Given the description of an element on the screen output the (x, y) to click on. 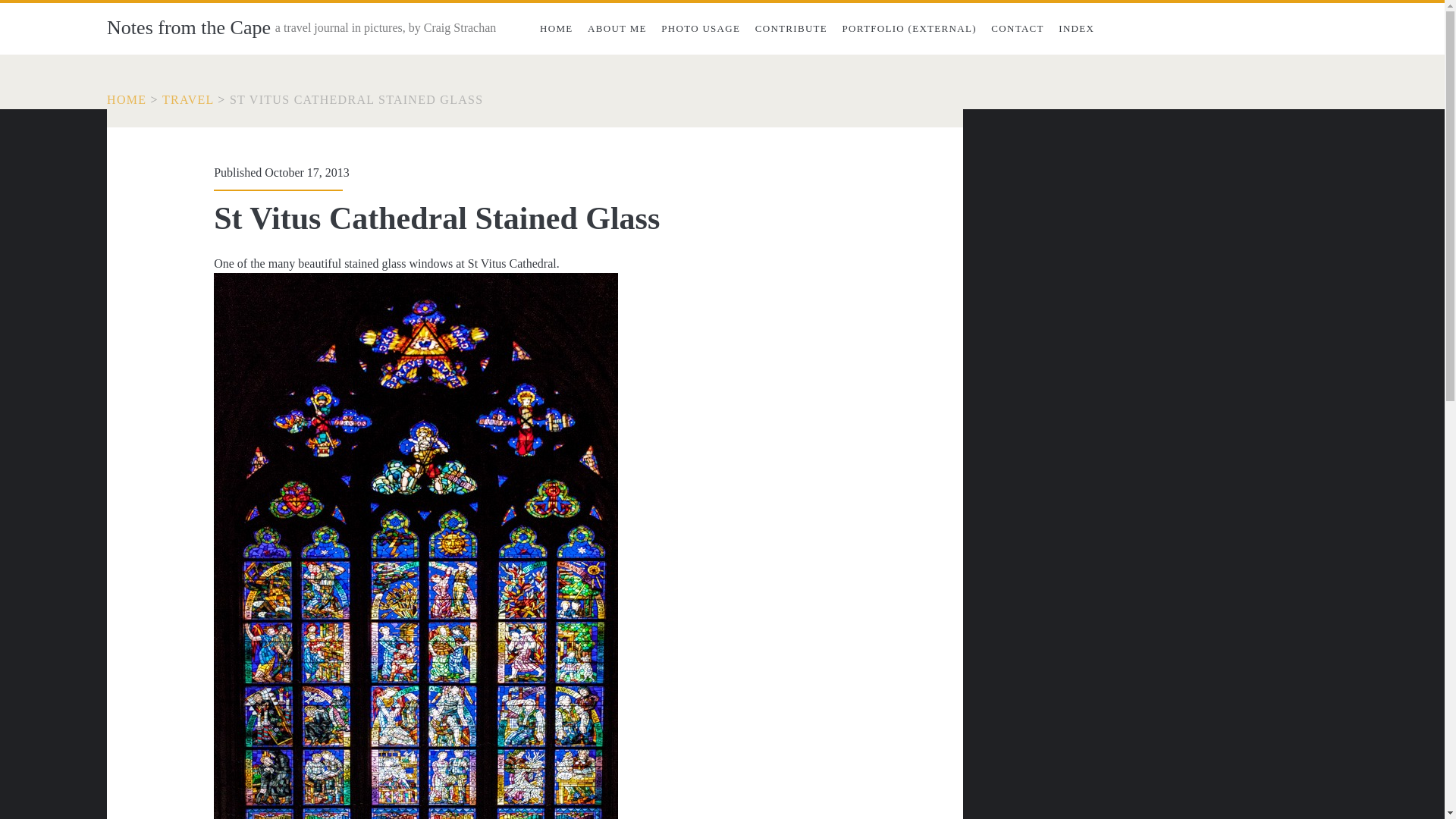
PHOTO USAGE (700, 28)
Notes from the Cape (188, 27)
INDEX (1076, 28)
TRAVEL (187, 99)
St Vitus Cathedral Stained Glass (356, 99)
HOME (555, 28)
ABOUT ME (616, 28)
HOME (126, 99)
CONTACT (1017, 28)
CONTRIBUTE (791, 28)
Home (126, 99)
